Given the description of an element on the screen output the (x, y) to click on. 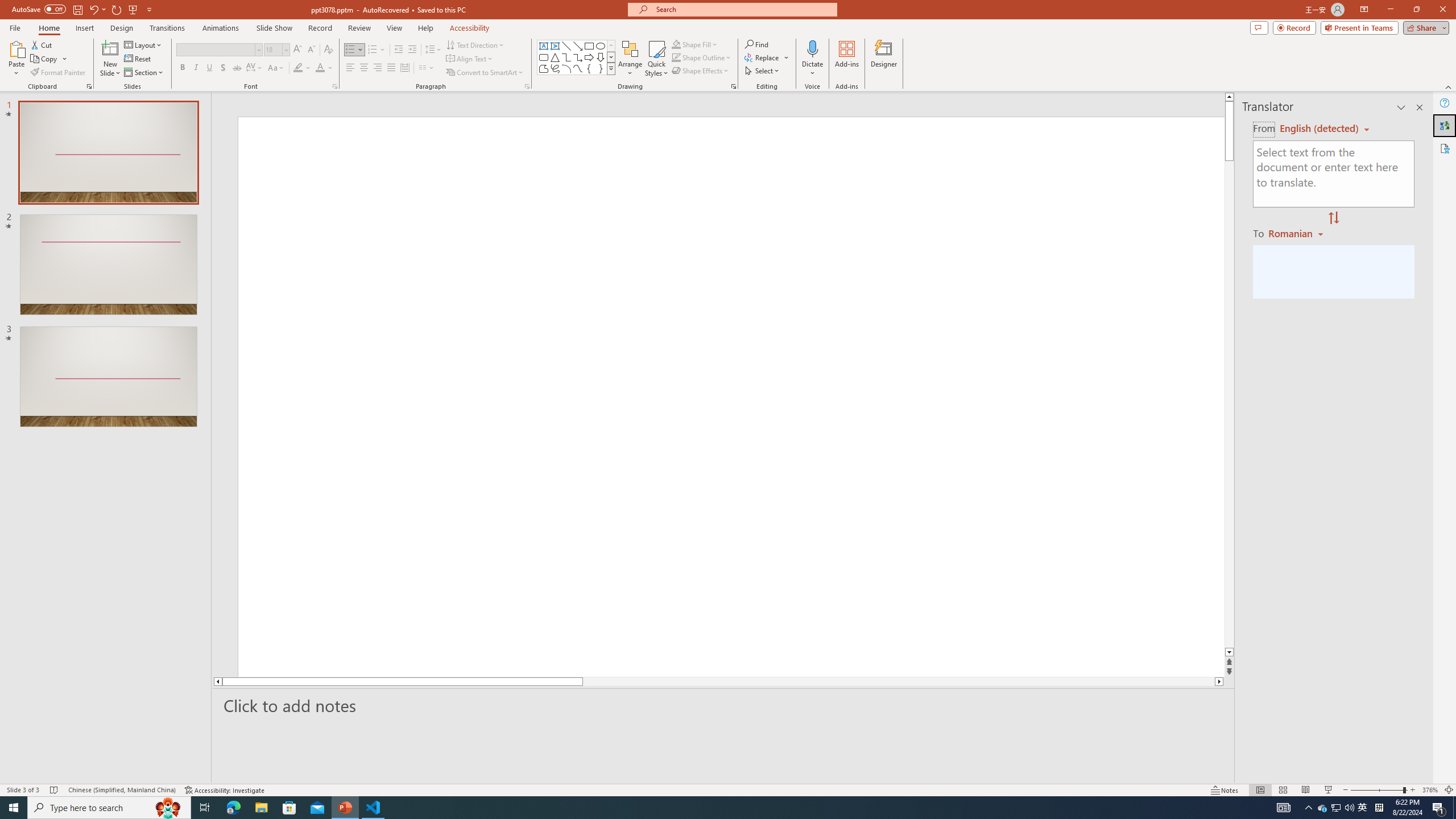
Add-in 17 (773, 450)
Romanian (1296, 232)
